Given the description of an element on the screen output the (x, y) to click on. 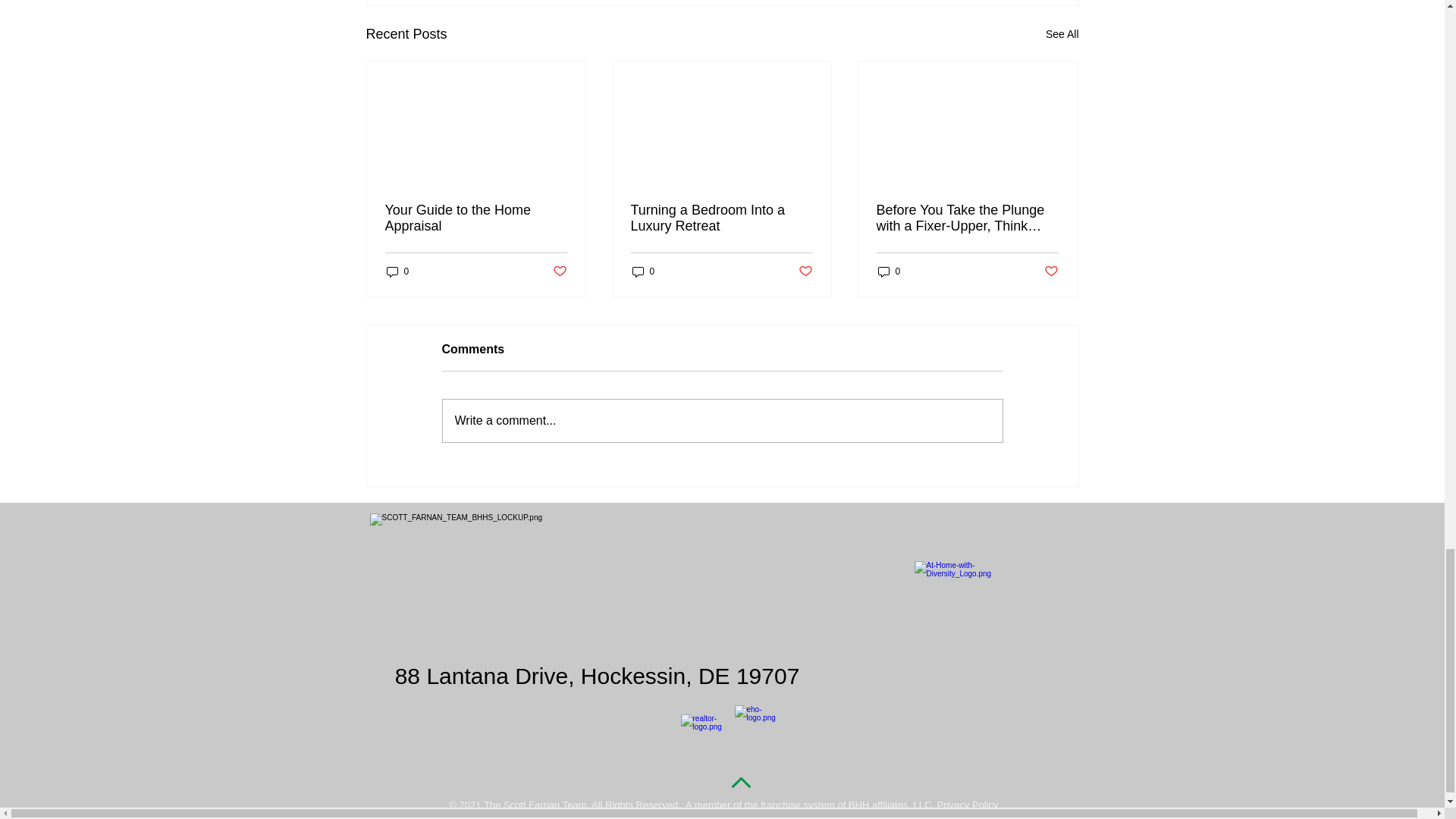
See All (1061, 34)
Post not marked as liked (558, 271)
0 (397, 271)
0 (643, 271)
Turning a Bedroom Into a Luxury Retreat (721, 218)
Post not marked as liked (804, 271)
0 (889, 271)
Your Guide to the Home Appraisal (476, 218)
